Given the description of an element on the screen output the (x, y) to click on. 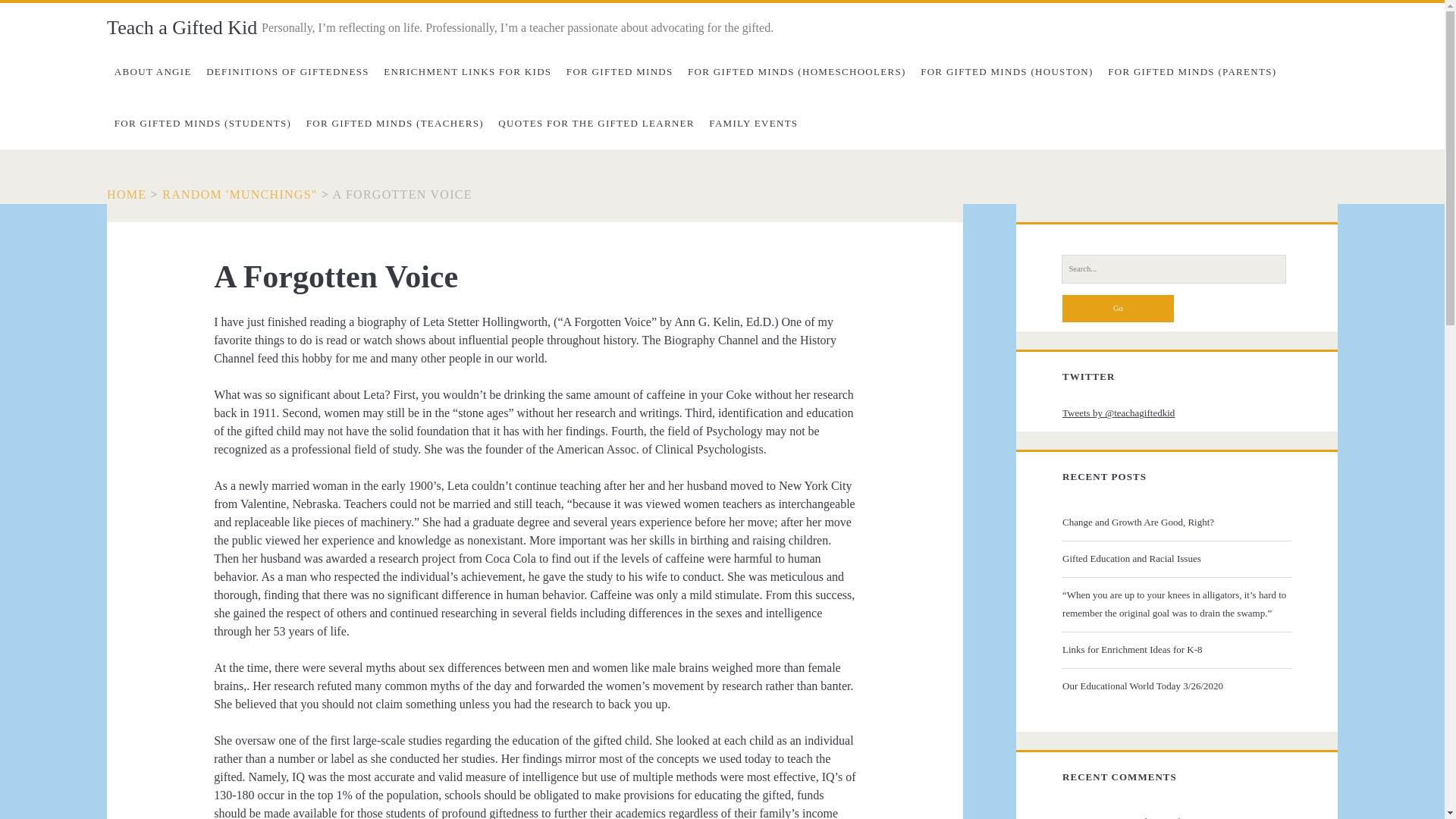
Ligia (1072, 817)
Home (126, 194)
RANDOM 'MUNCHINGS" (239, 194)
ABOUT ANGIE (152, 71)
Search for: (1173, 268)
Go (1117, 308)
FAMILY EVENTS (753, 123)
Links for Enrichment Ideas for K-8 (1174, 649)
Go (1117, 308)
Change and Growth Are Good, Right? (1174, 522)
